Given the description of an element on the screen output the (x, y) to click on. 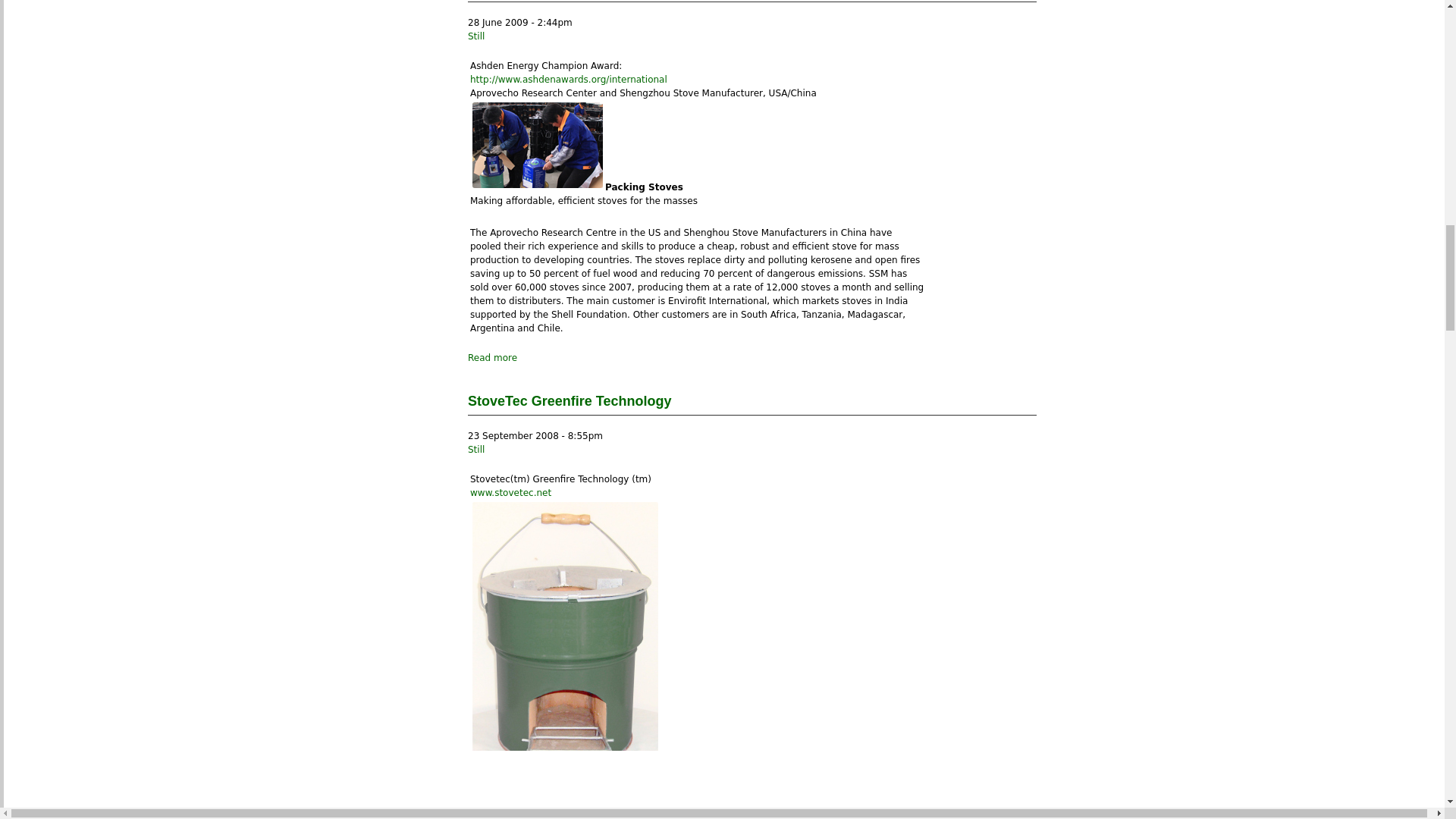
Still (475, 36)
Packing Stoves (536, 145)
Still (475, 449)
www.stovetec.net (510, 492)
Read more (491, 357)
StoveTec Greenfire Technology (569, 400)
